Given the description of an element on the screen output the (x, y) to click on. 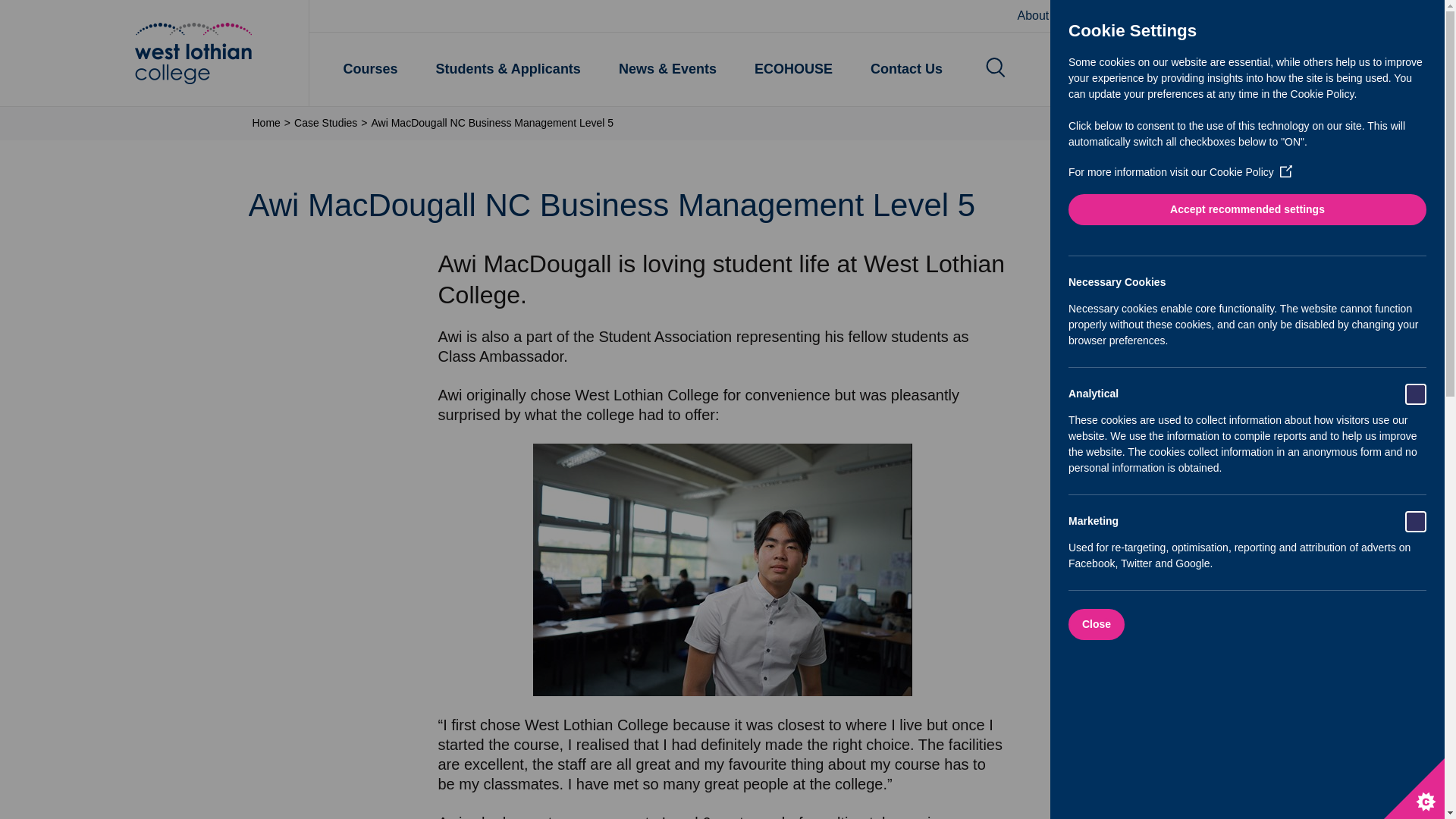
MyCollege (1181, 15)
About Us (1042, 15)
Accessibility (1264, 15)
Close (1366, 624)
Moodle (1109, 15)
